Given the description of an element on the screen output the (x, y) to click on. 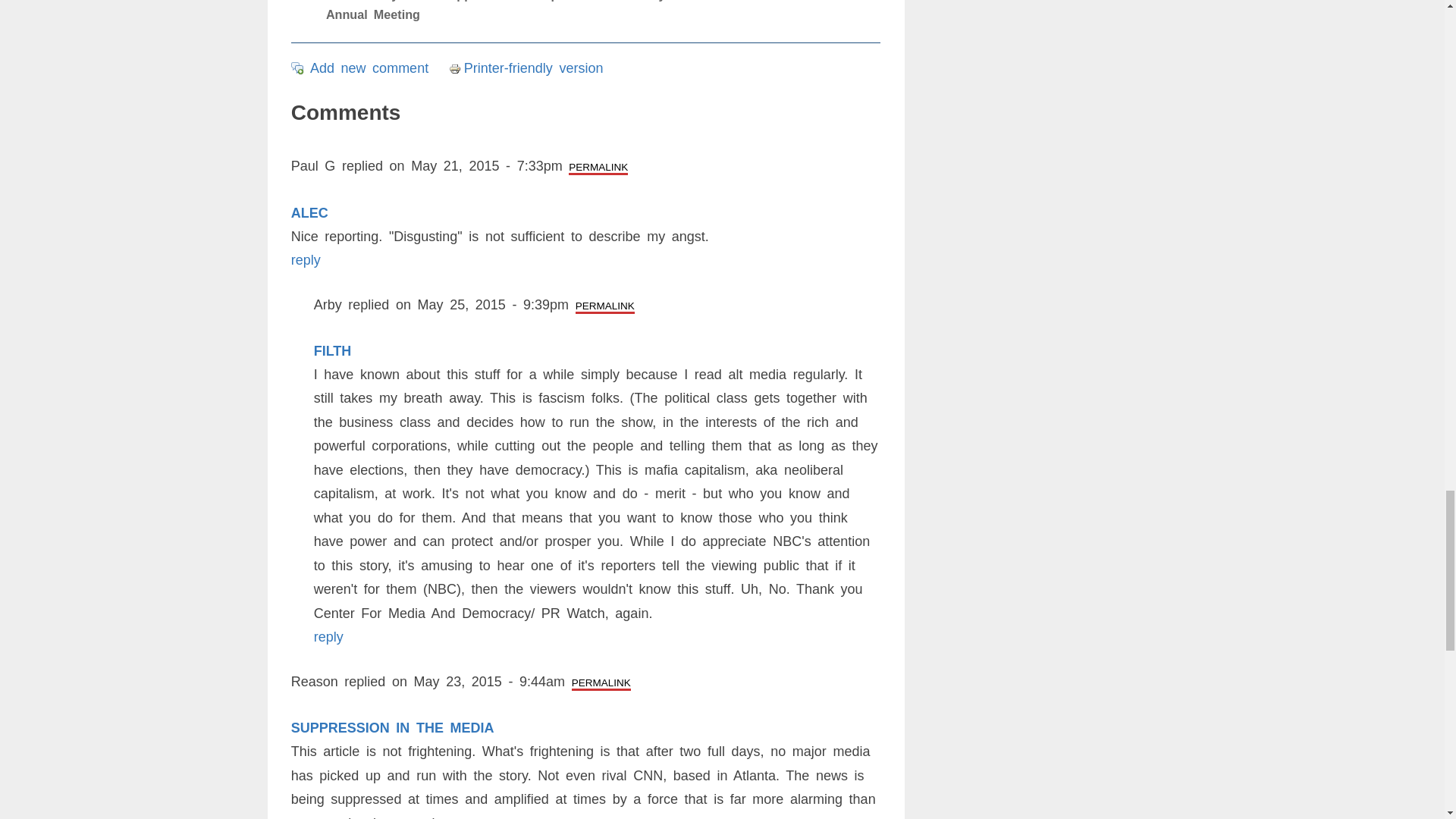
Share your thoughts and opinions related to this posting. (369, 68)
reply (305, 259)
Printer-friendly version (526, 68)
Add new comment (369, 68)
Printer-friendly version (456, 69)
ALEC (310, 212)
PERMALINK (598, 166)
Display a printer-friendly version of this page. (526, 68)
